Given the description of an element on the screen output the (x, y) to click on. 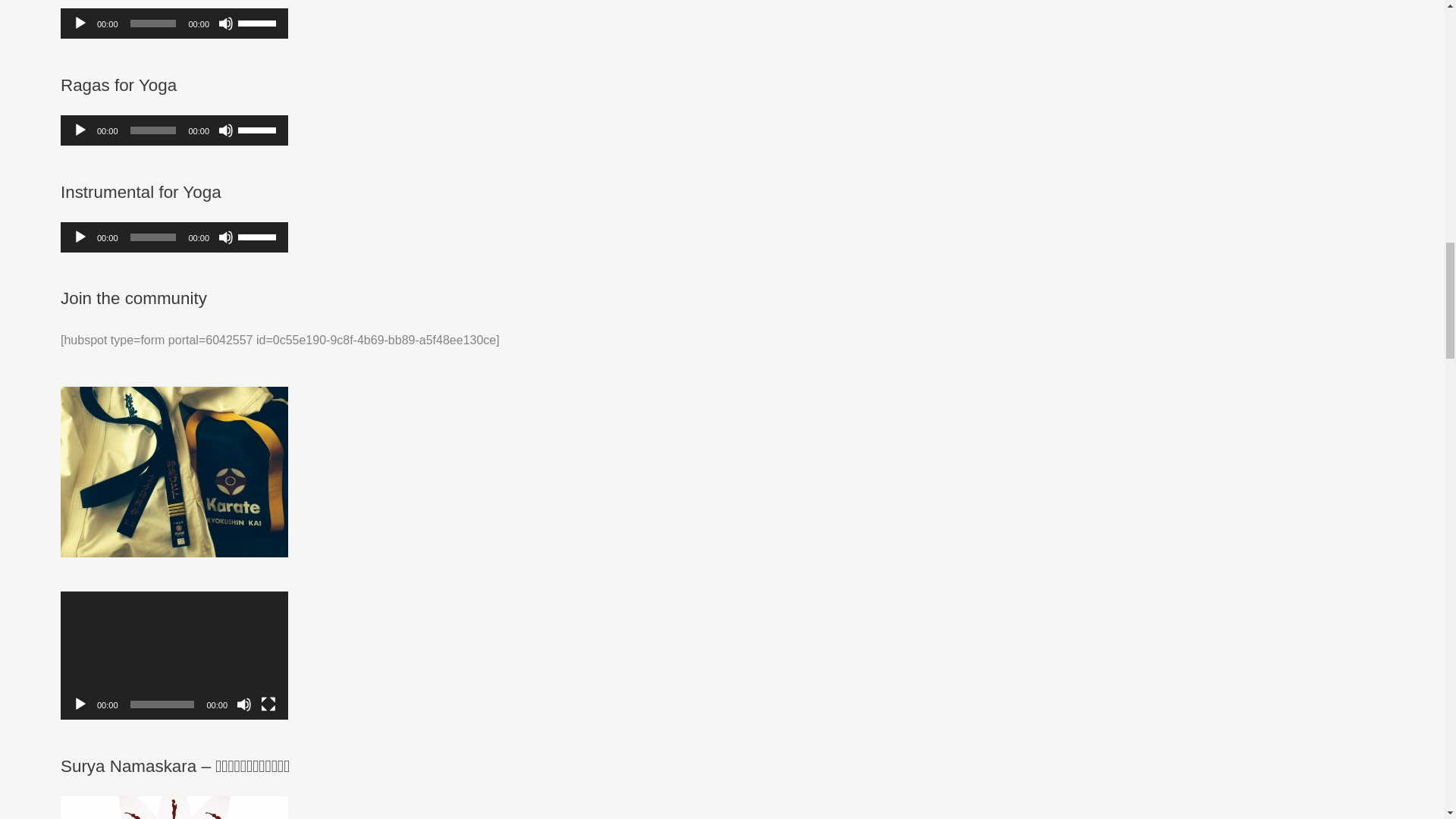
Mute (225, 23)
Mute (225, 237)
Play (79, 23)
Fullscreen (268, 703)
Play (79, 237)
Play (79, 130)
Play (79, 703)
Mute (225, 130)
Mute (243, 703)
